Given the description of an element on the screen output the (x, y) to click on. 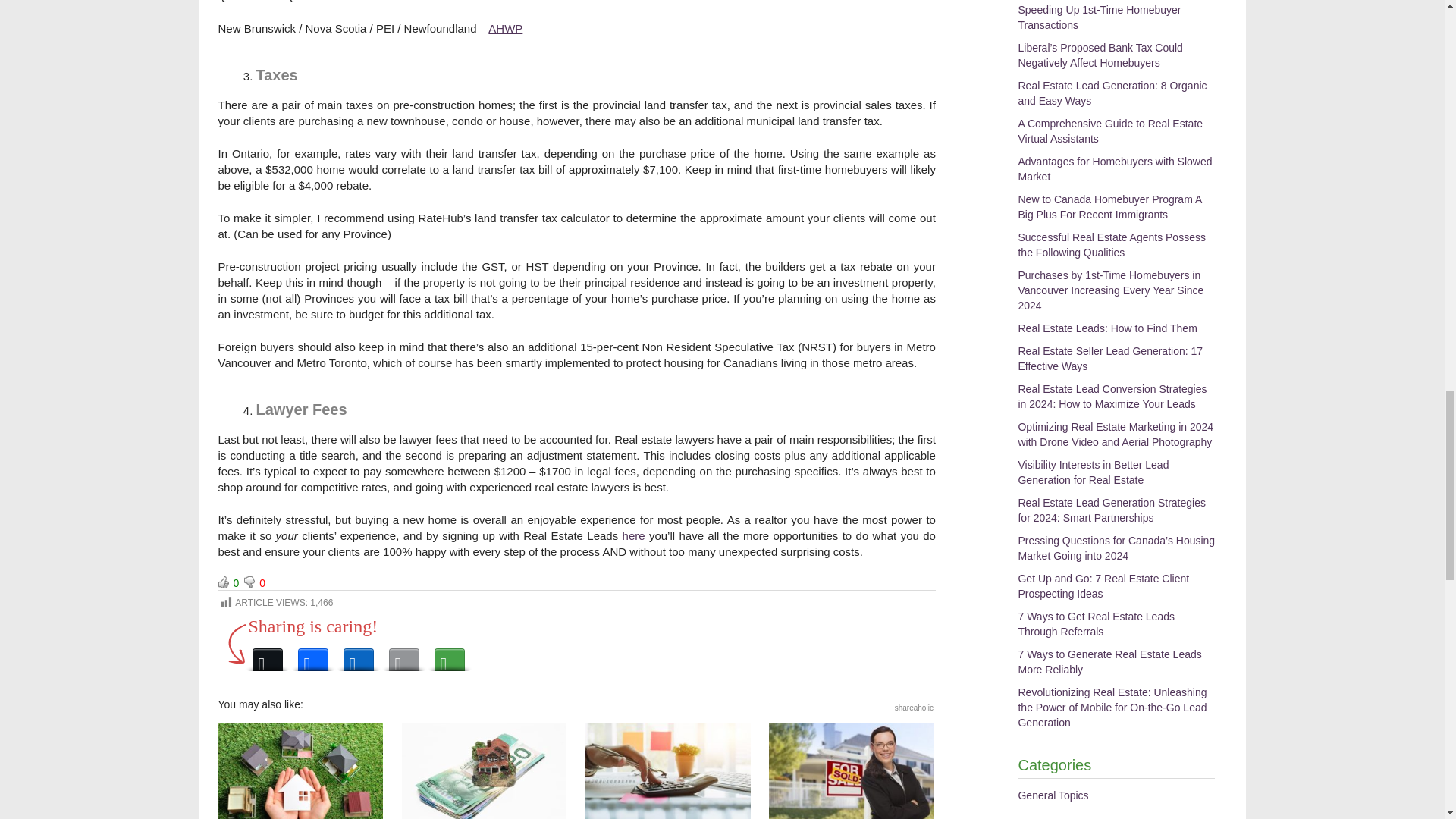
LinkedIn (357, 655)
More Options (448, 655)
here (634, 535)
Six Hallmarks of Successful Real Estate Agents (851, 771)
AHWP (504, 28)
Facebook (311, 655)
Email This (403, 655)
